Given the description of an element on the screen output the (x, y) to click on. 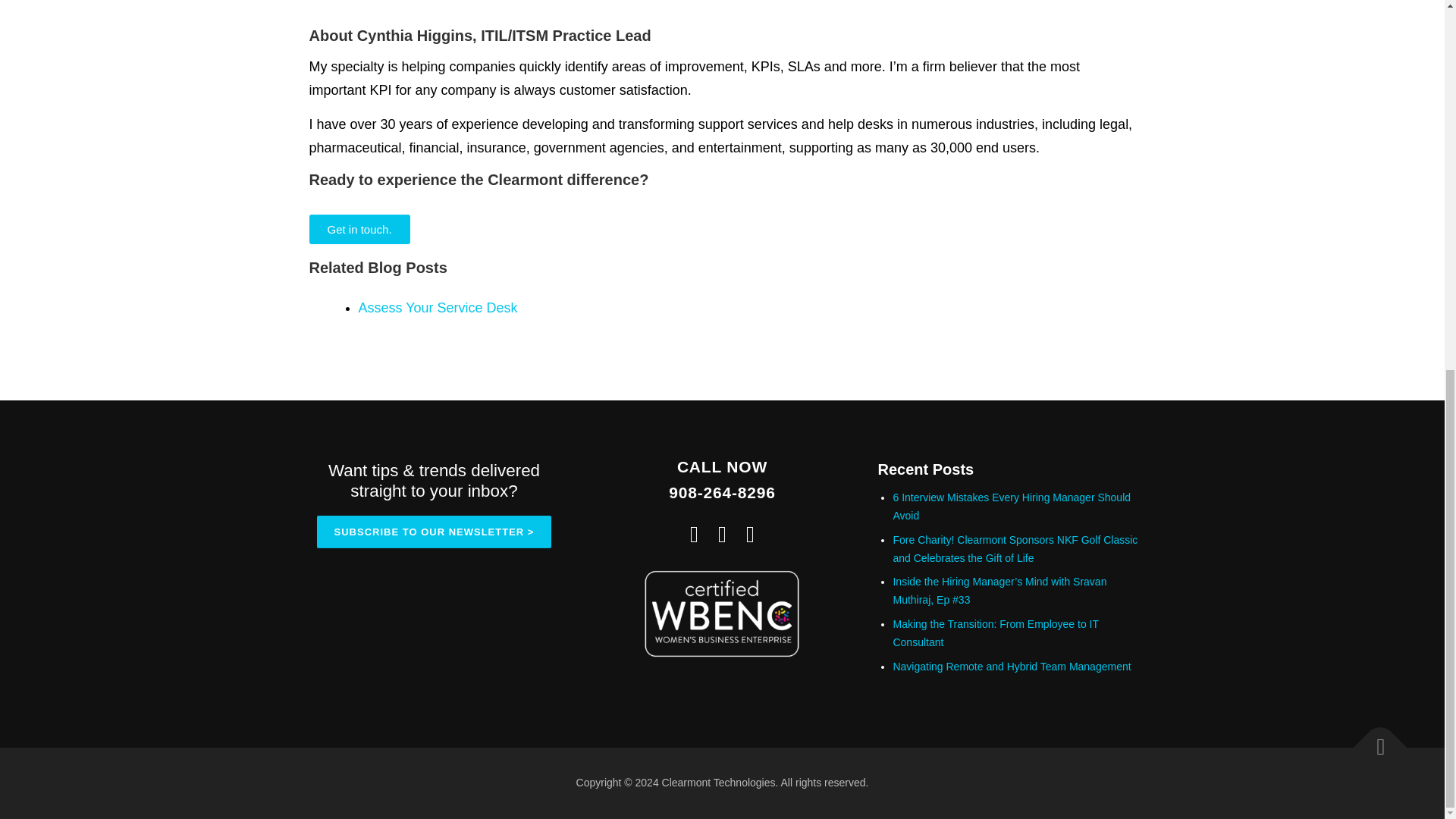
6 Interview Mistakes Every Hiring Manager Should Avoid (1011, 506)
Making the Transition: From Employee to IT Consultant (994, 633)
Back To Top (1372, 740)
Get in touch. (359, 229)
Assess Your Service Desk (437, 307)
Navigating Remote and Hybrid Team Management (1011, 666)
